Given the description of an element on the screen output the (x, y) to click on. 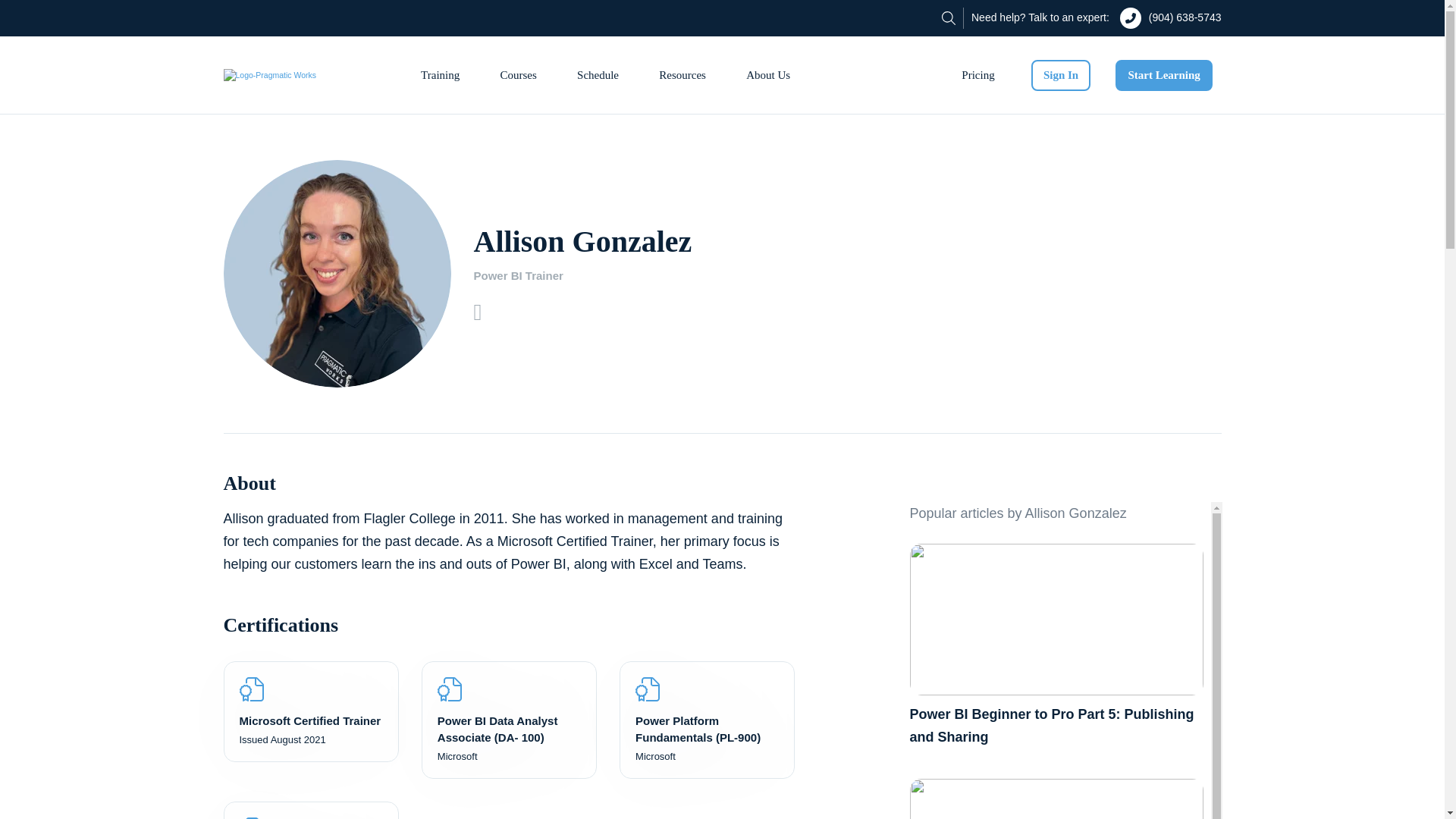
Start Learning (1163, 74)
Resources (682, 75)
Courses (517, 75)
Schedule (598, 75)
Pricing (978, 75)
Sign In (1060, 74)
Logo-Pragmatic Works (268, 75)
About Us (768, 75)
Training (439, 75)
